Given the description of an element on the screen output the (x, y) to click on. 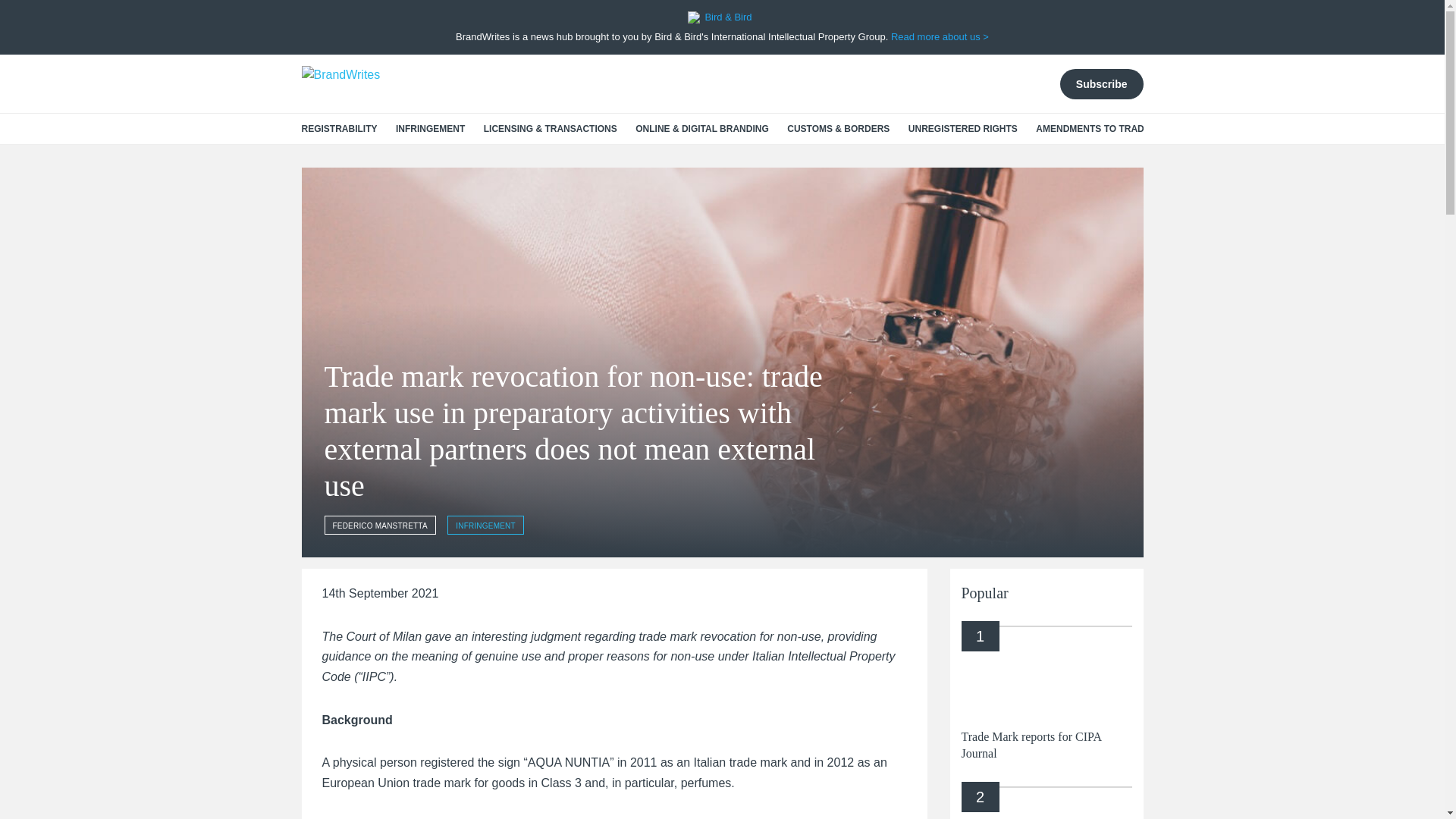
Trade Mark reports for CIPA Journal (1031, 745)
Posts by Federico Manstretta (379, 524)
INFRINGEMENT (430, 128)
REGISTRABILITY (339, 128)
INFRINGEMENT (485, 524)
AMENDMENTS TO TRADE MARK LAW (1118, 128)
UNREGISTERED RIGHTS (962, 128)
FEDERICO MANSTRETTA (379, 524)
Subscribe (1100, 82)
